Given the description of an element on the screen output the (x, y) to click on. 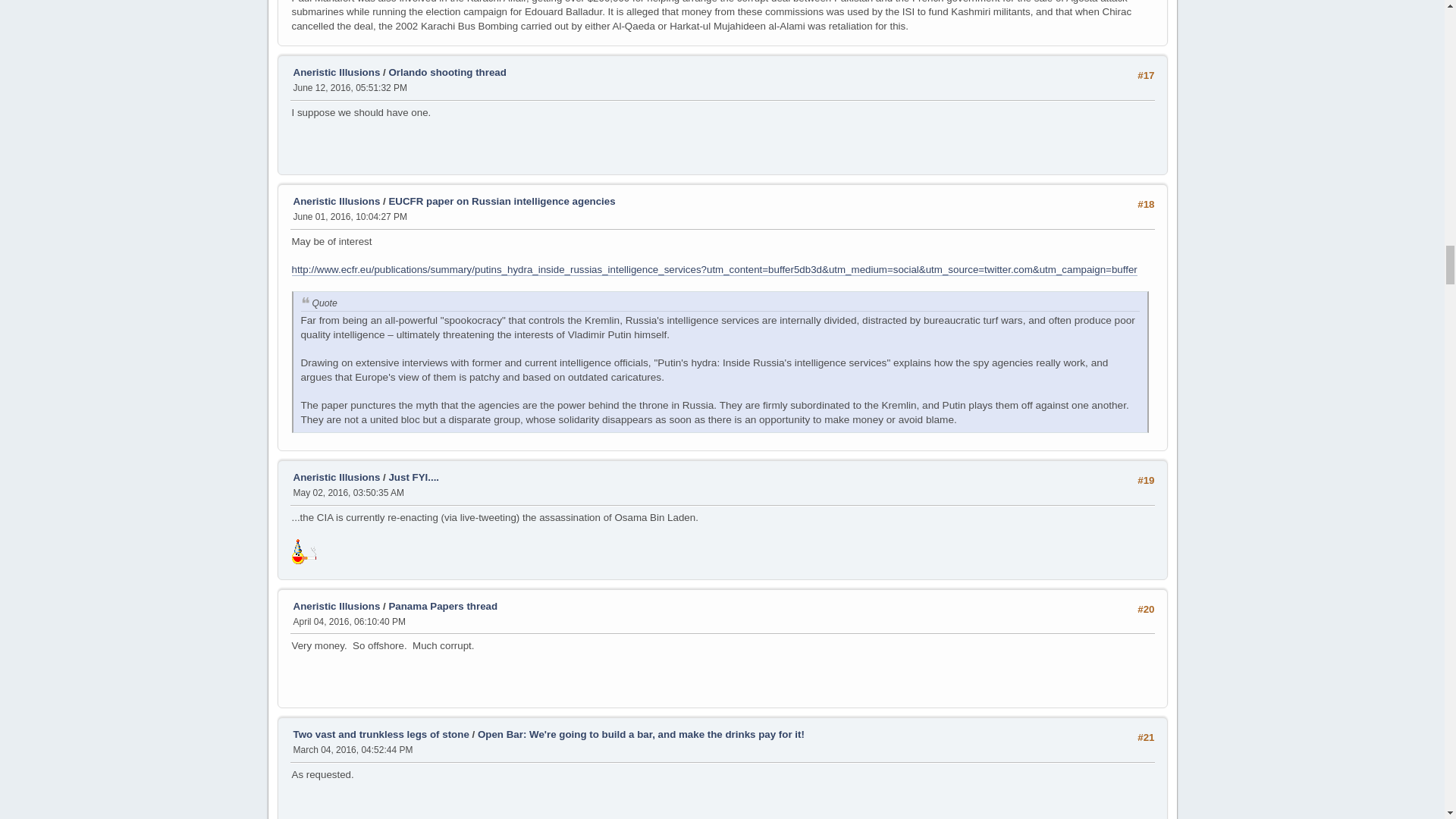
lulz (303, 551)
